Given the description of an element on the screen output the (x, y) to click on. 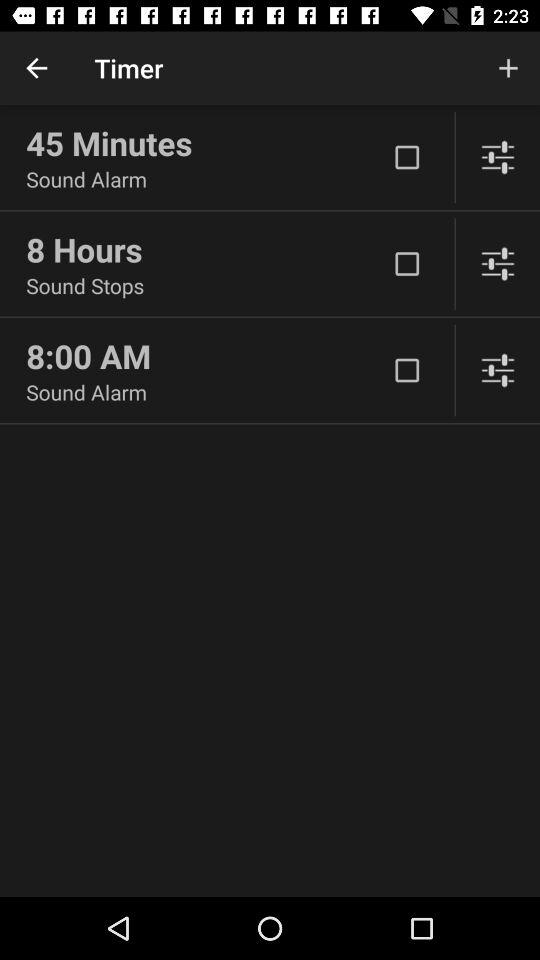
hour checkbox (407, 264)
